Given the description of an element on the screen output the (x, y) to click on. 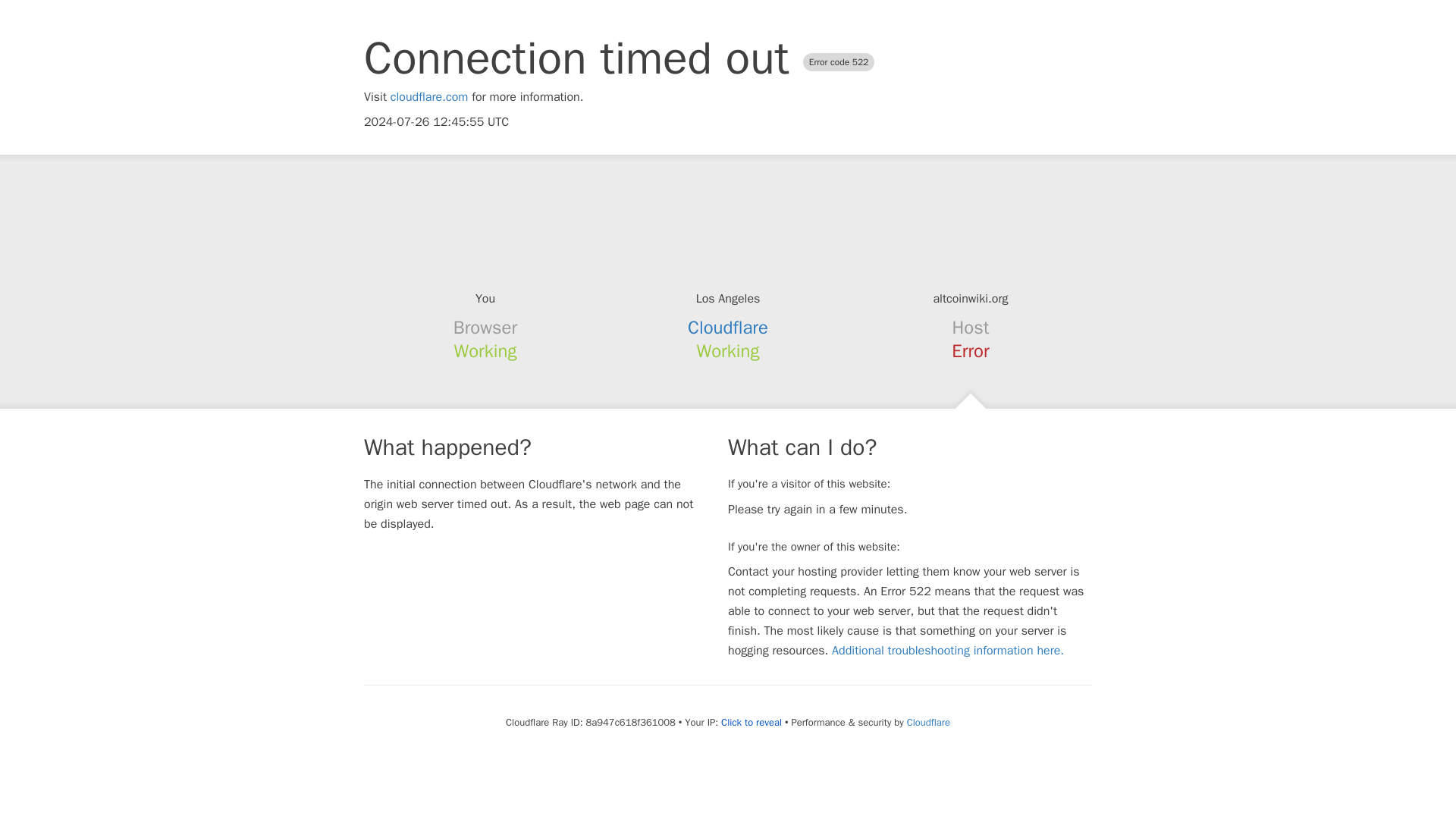
Cloudflare (727, 327)
Cloudflare (928, 721)
cloudflare.com (429, 96)
Additional troubleshooting information here. (947, 650)
Click to reveal (750, 722)
